Given the description of an element on the screen output the (x, y) to click on. 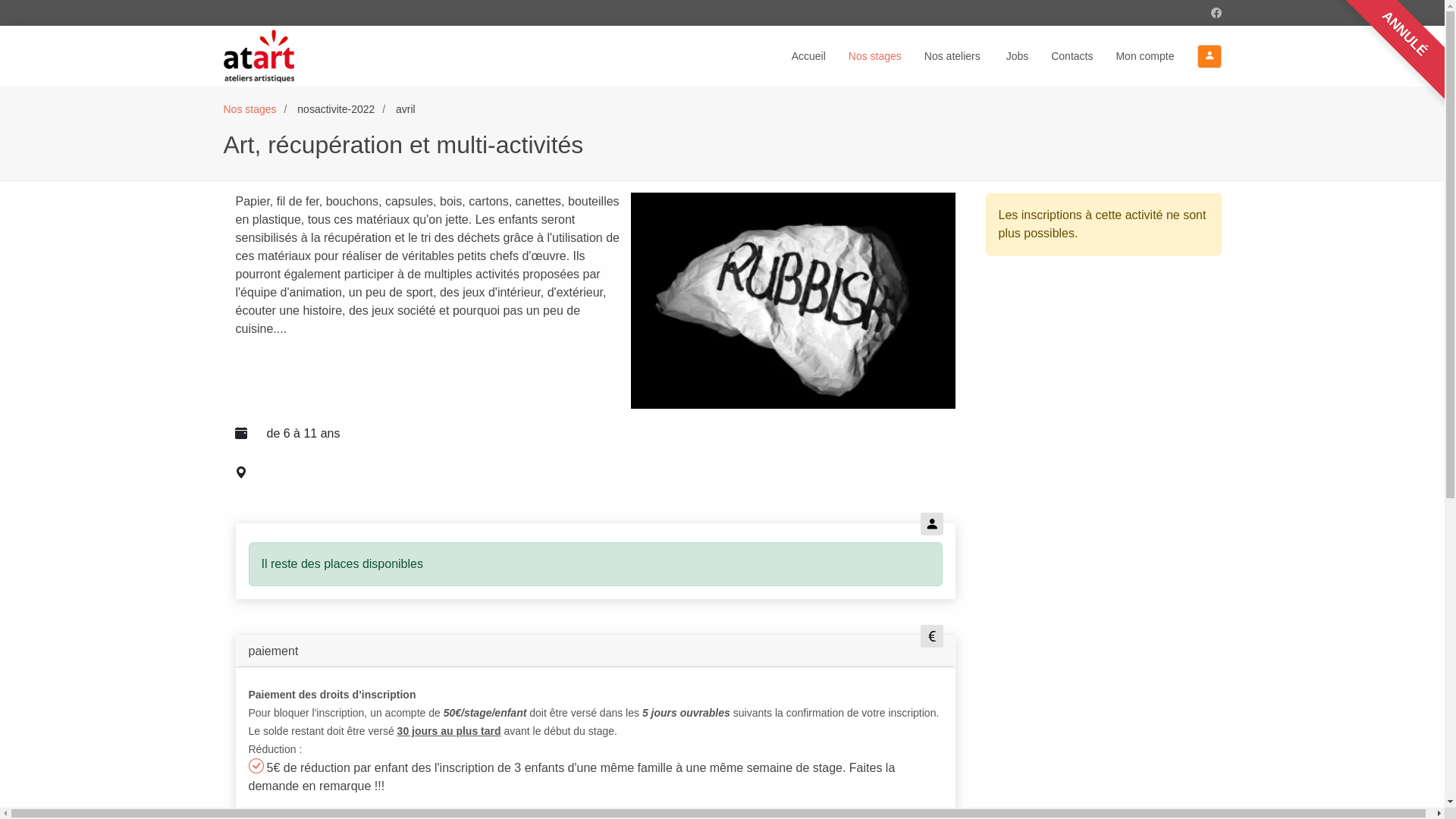
Jobs Element type: text (1028, 56)
Adresse Element type: hover (612, 472)
Nos ateliers  Element type: text (965, 56)
Mon compte Element type: text (1155, 56)
Contacts Element type: text (1083, 56)
Nos stages
(courante) Element type: text (886, 56)
Accueil Element type: text (819, 56)
Nos stages Element type: text (249, 109)
